Given the description of an element on the screen output the (x, y) to click on. 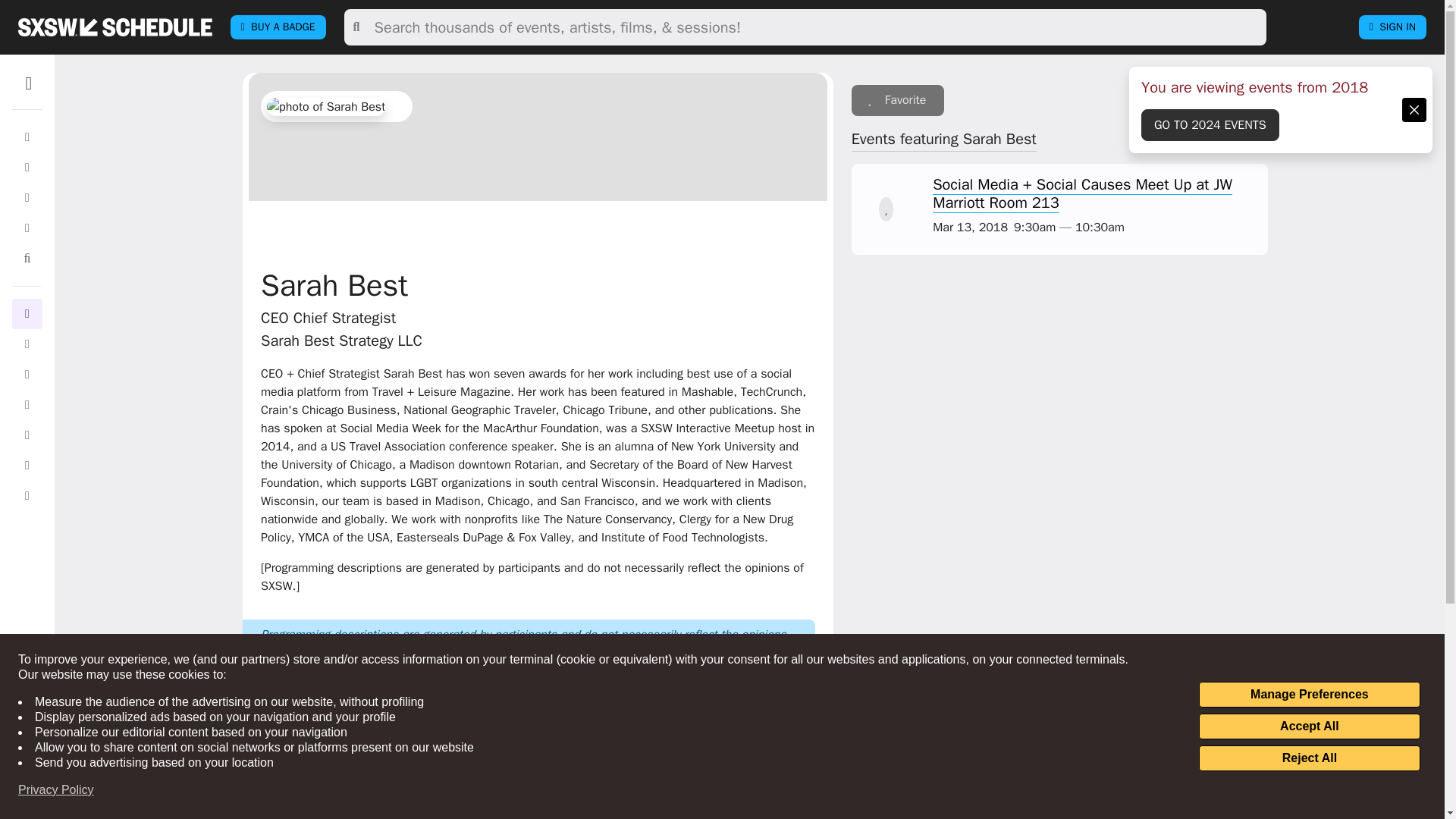
sxsw SCHEDULE (114, 27)
SIGN IN (1392, 27)
Manage Preferences (1309, 694)
Accept All (1309, 726)
GO TO 2024 EVENTS (1210, 124)
Privacy Policy (55, 789)
Sign In to add to your favorites. (897, 100)
BUY A BADGE (278, 27)
Reject All (1309, 758)
